Given the description of an element on the screen output the (x, y) to click on. 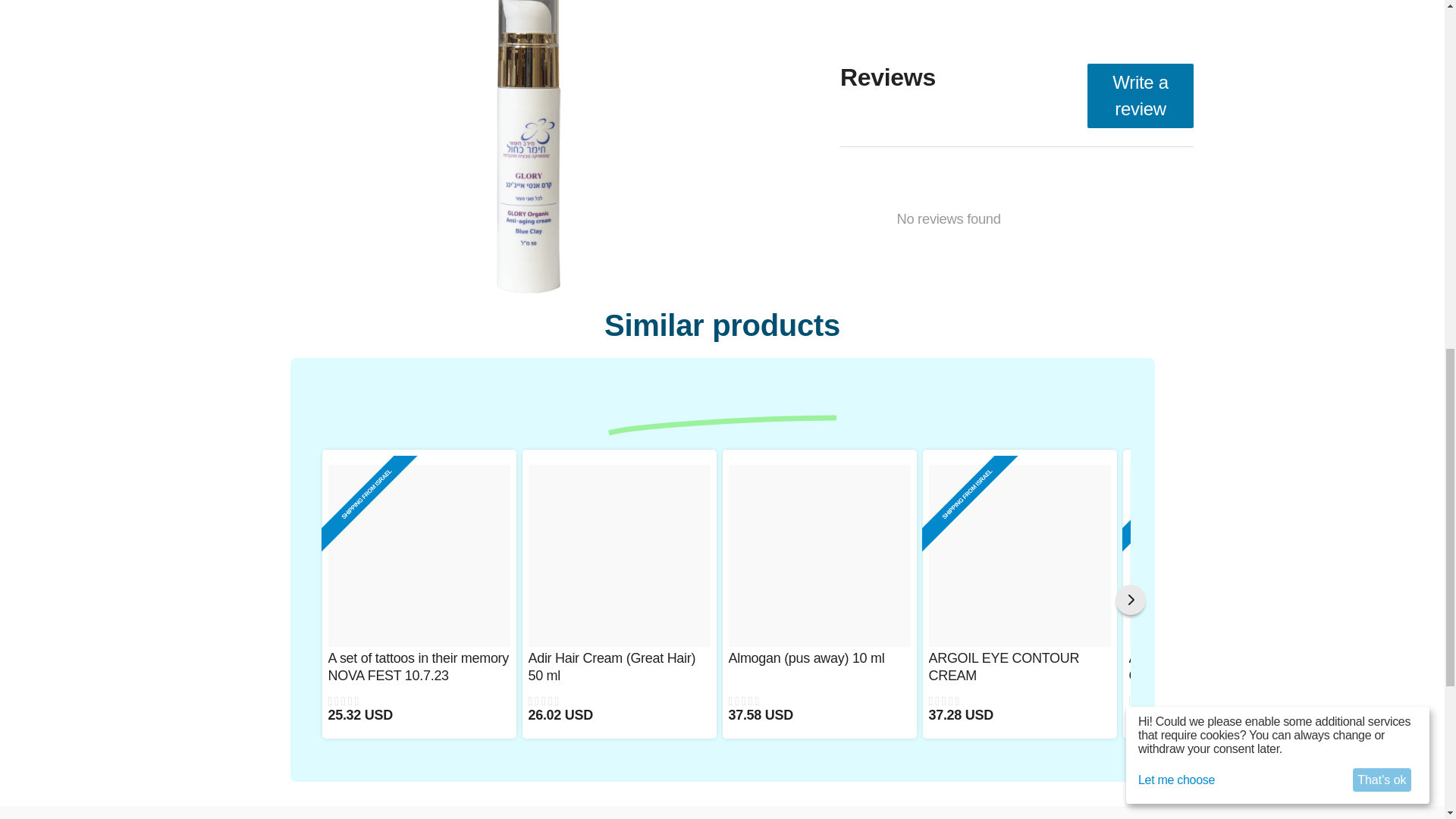
SHIPPING FROM ISRAEL (1219, 685)
SHIPPING FROM ISRAEL (1018, 556)
SHIPPING FROM ISRAEL (1219, 556)
